Given the description of an element on the screen output the (x, y) to click on. 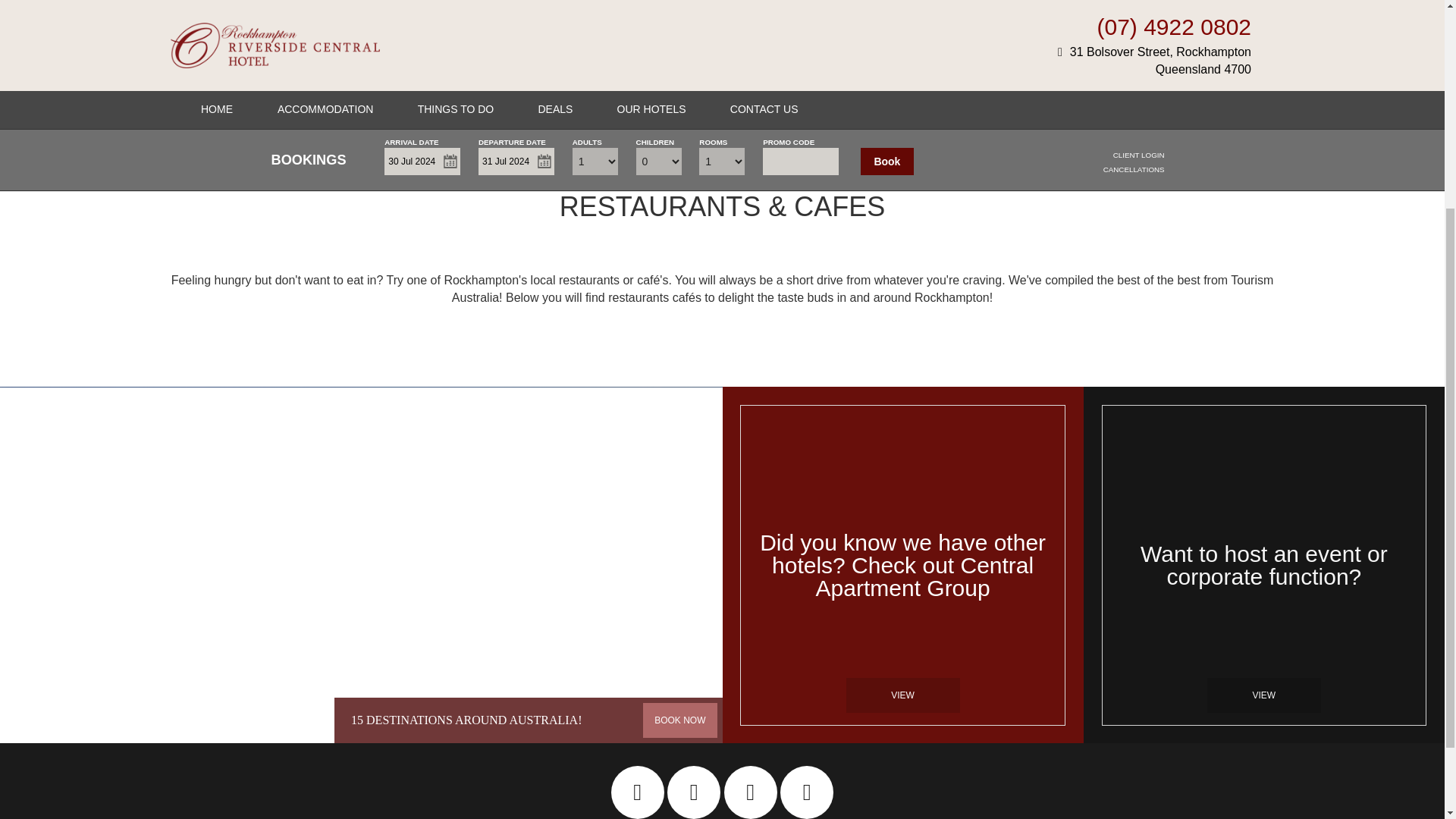
Facebook (694, 791)
Linkedin (750, 791)
Instagram (637, 791)
